Given the description of an element on the screen output the (x, y) to click on. 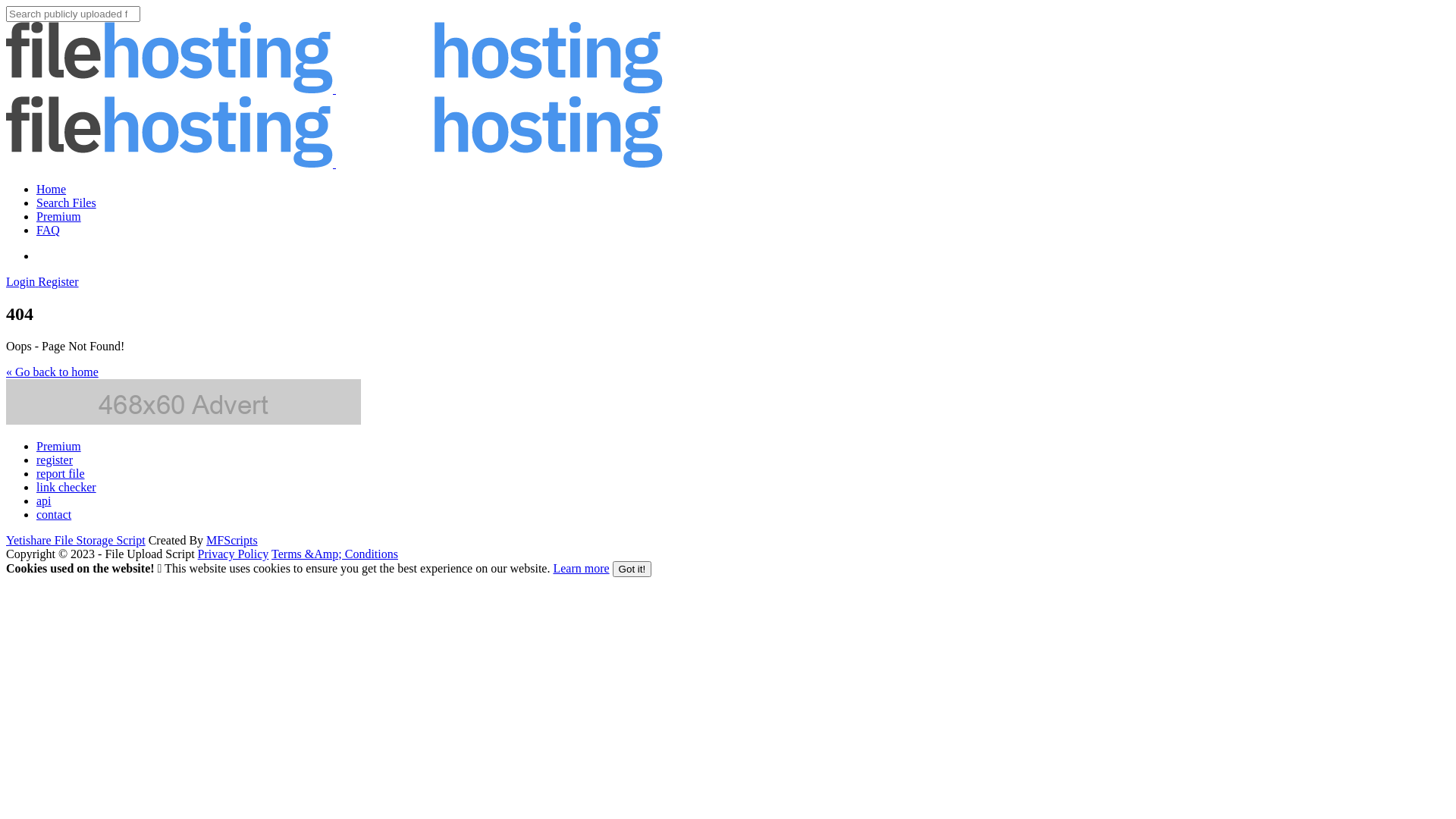
Terms &Amp; Conditions Element type: text (334, 553)
FAQ Element type: text (47, 229)
Register Element type: text (57, 281)
MFScripts Element type: text (231, 539)
Premium Element type: text (58, 445)
Learn more Element type: text (580, 567)
Premium Element type: text (58, 216)
api Element type: text (43, 500)
Home Element type: text (50, 188)
Login Element type: text (21, 281)
Privacy Policy Element type: text (233, 553)
contact Element type: text (53, 514)
Got it! Element type: text (632, 569)
Yetishare File Storage Script Element type: text (75, 539)
report file Element type: text (60, 473)
register Element type: text (54, 459)
Search Files Element type: text (66, 202)
link checker Element type: text (66, 486)
